Given the description of an element on the screen output the (x, y) to click on. 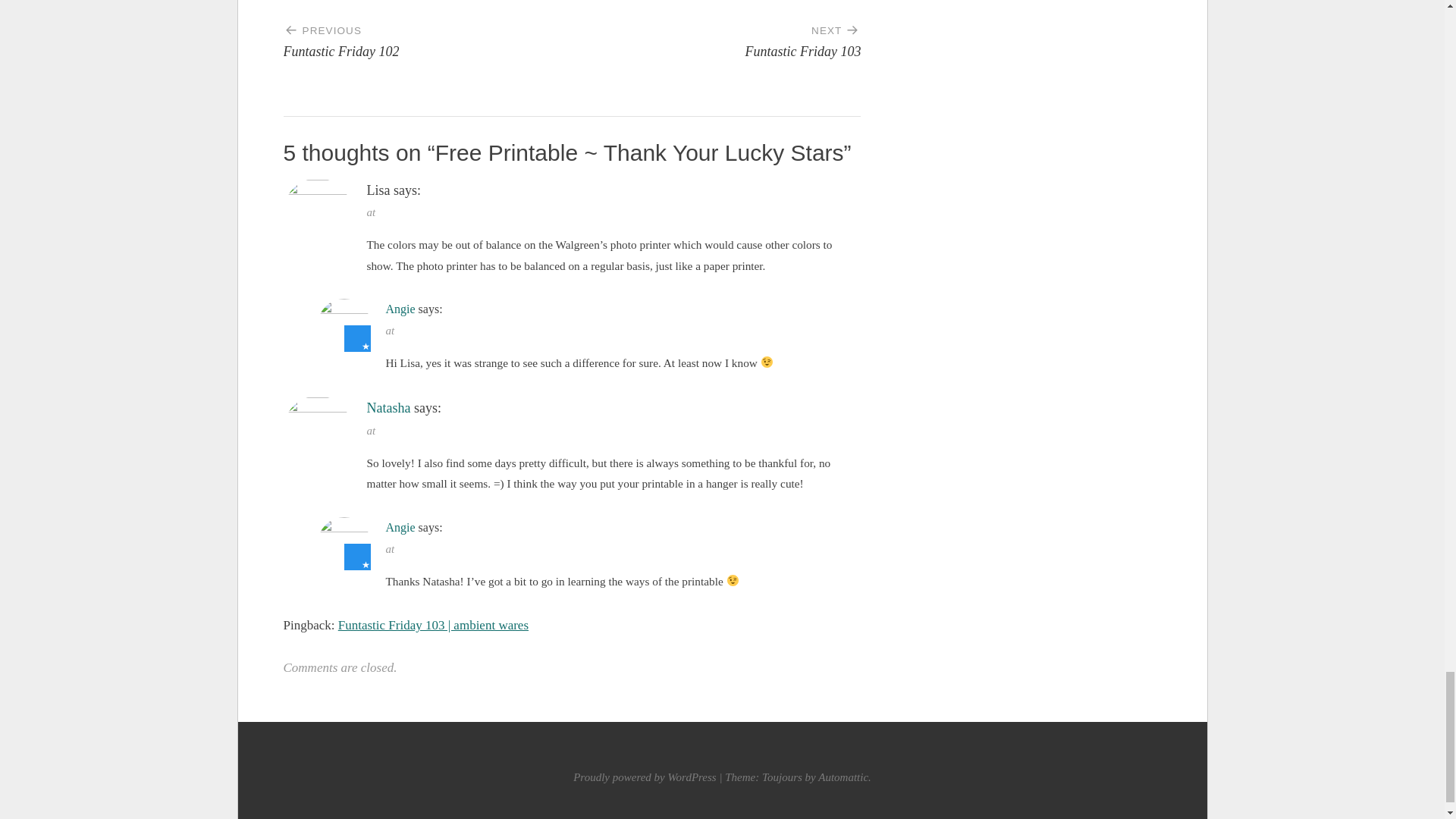
Angie (399, 308)
